Given the description of an element on the screen output the (x, y) to click on. 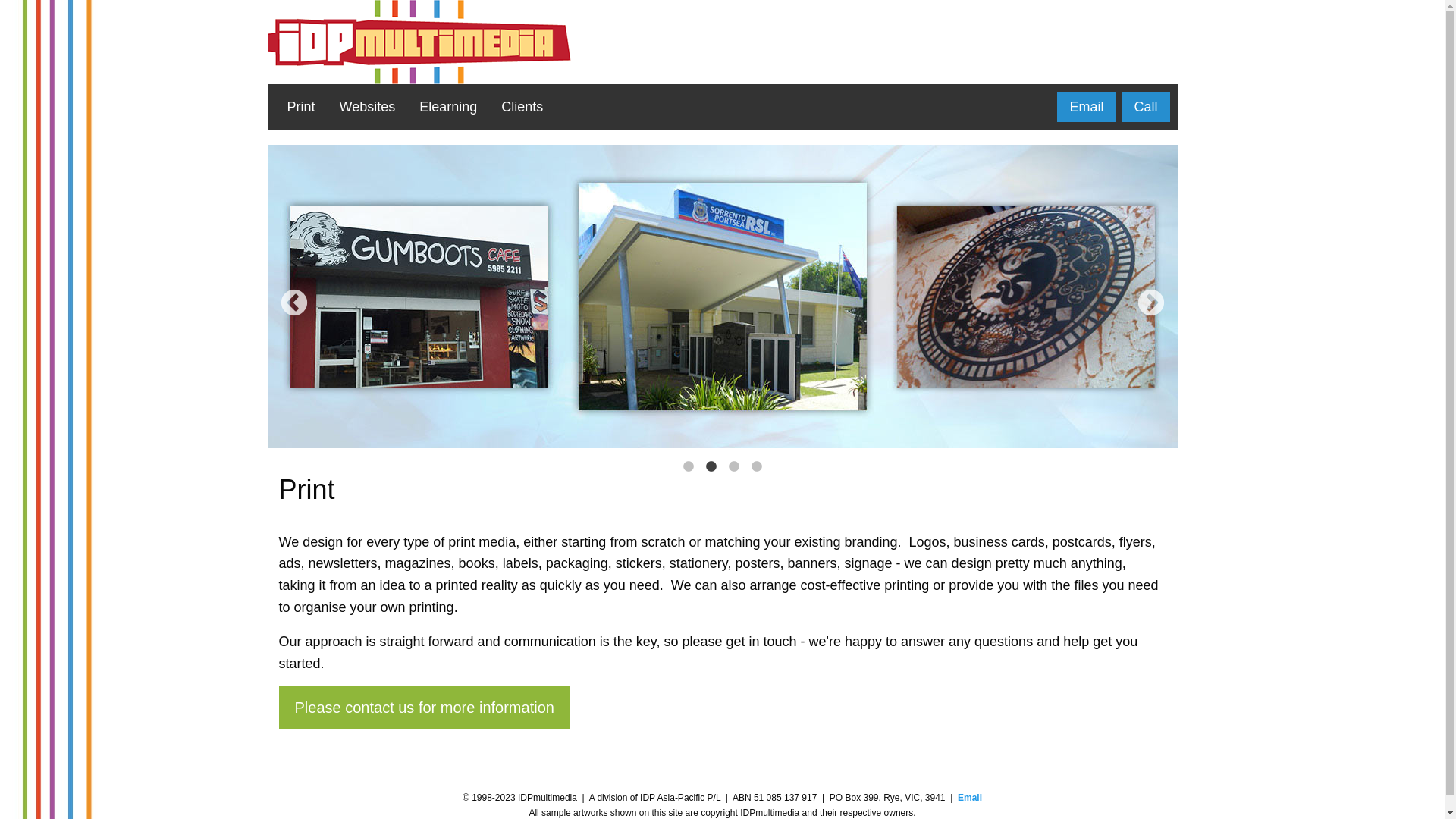
Please contact us for more information Element type: text (424, 707)
Websites Element type: text (367, 106)
Next Element type: text (1150, 303)
2 Element type: text (710, 462)
Email Element type: text (969, 797)
Clients Element type: text (522, 106)
Previous Element type: text (294, 303)
Email Element type: text (1086, 106)
IDPmultimedia print & signage Element type: hover (721, 296)
Elearning Element type: text (448, 106)
Print Element type: text (300, 106)
1 Element type: text (688, 462)
Call Element type: text (1145, 106)
4 Element type: text (756, 462)
3 Element type: text (733, 462)
